Given the description of an element on the screen output the (x, y) to click on. 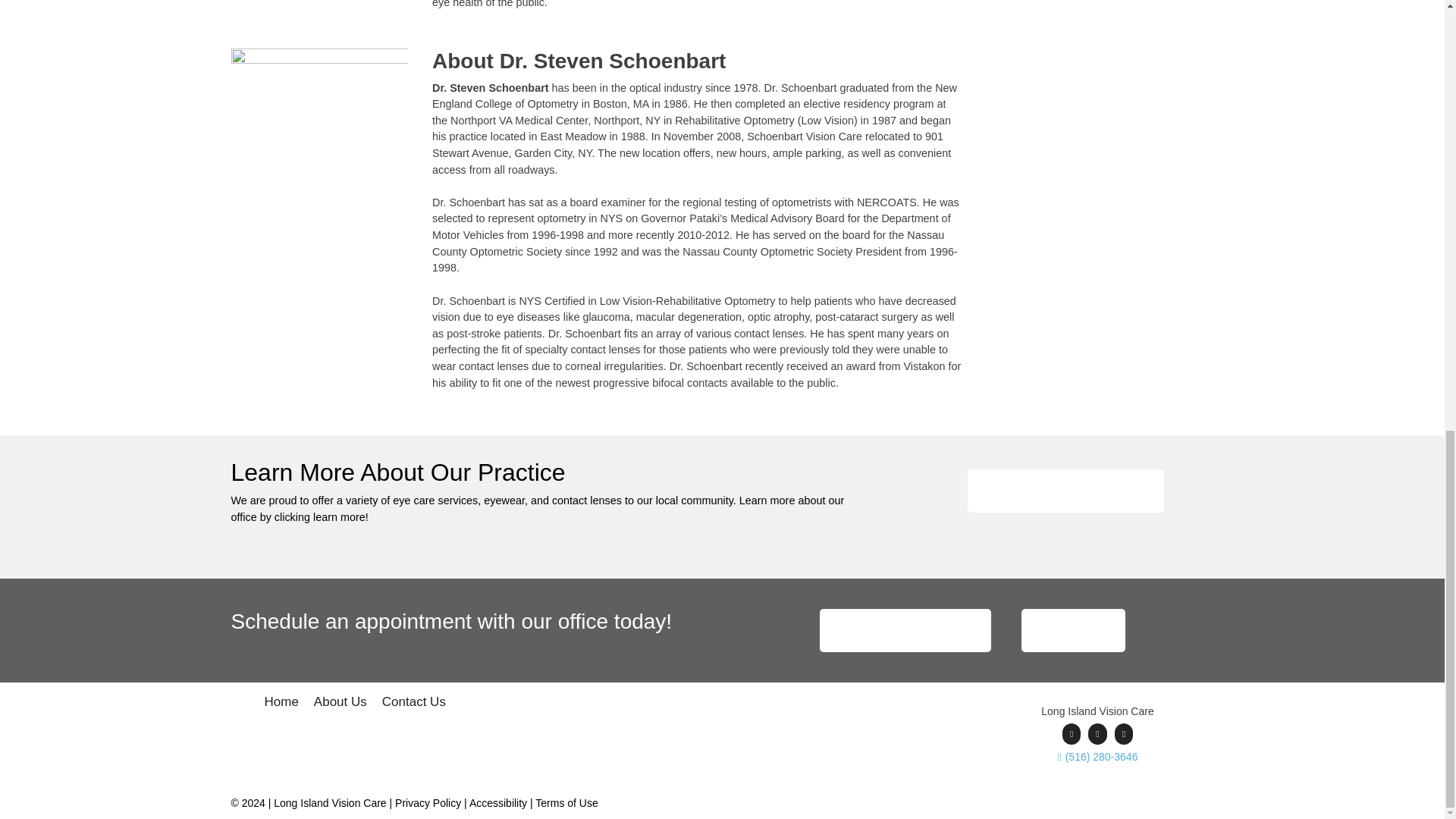
Contact Us (413, 703)
Privacy Policy (427, 802)
Home (280, 703)
Accessibility (497, 802)
Facebook (1071, 733)
Instagram (1123, 733)
Terms of Use (565, 802)
Call Our Office (1073, 630)
About Us (339, 703)
Schedule An Appointment (905, 630)
